Given the description of an element on the screen output the (x, y) to click on. 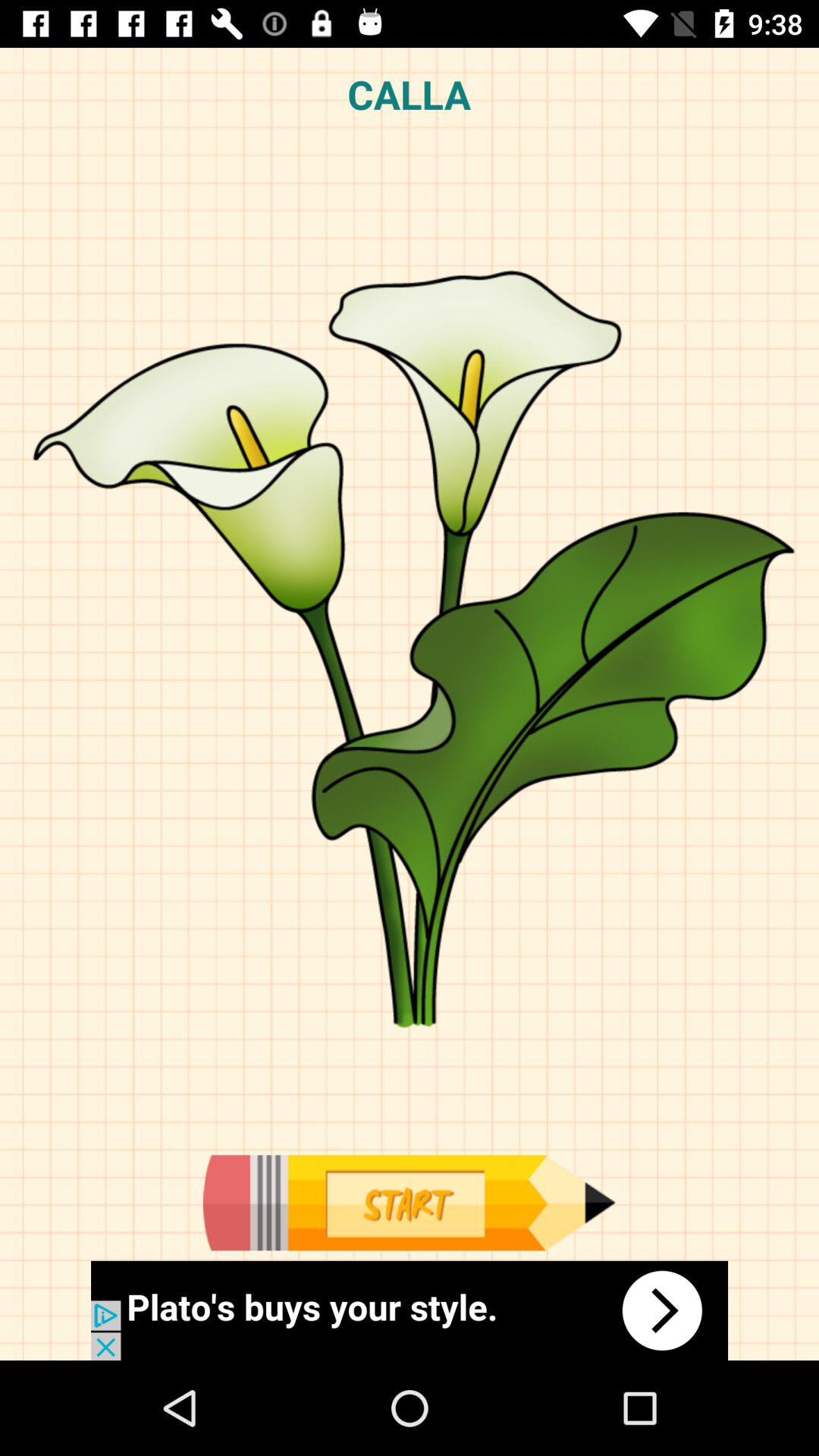
play option (409, 1202)
